Given the description of an element on the screen output the (x, y) to click on. 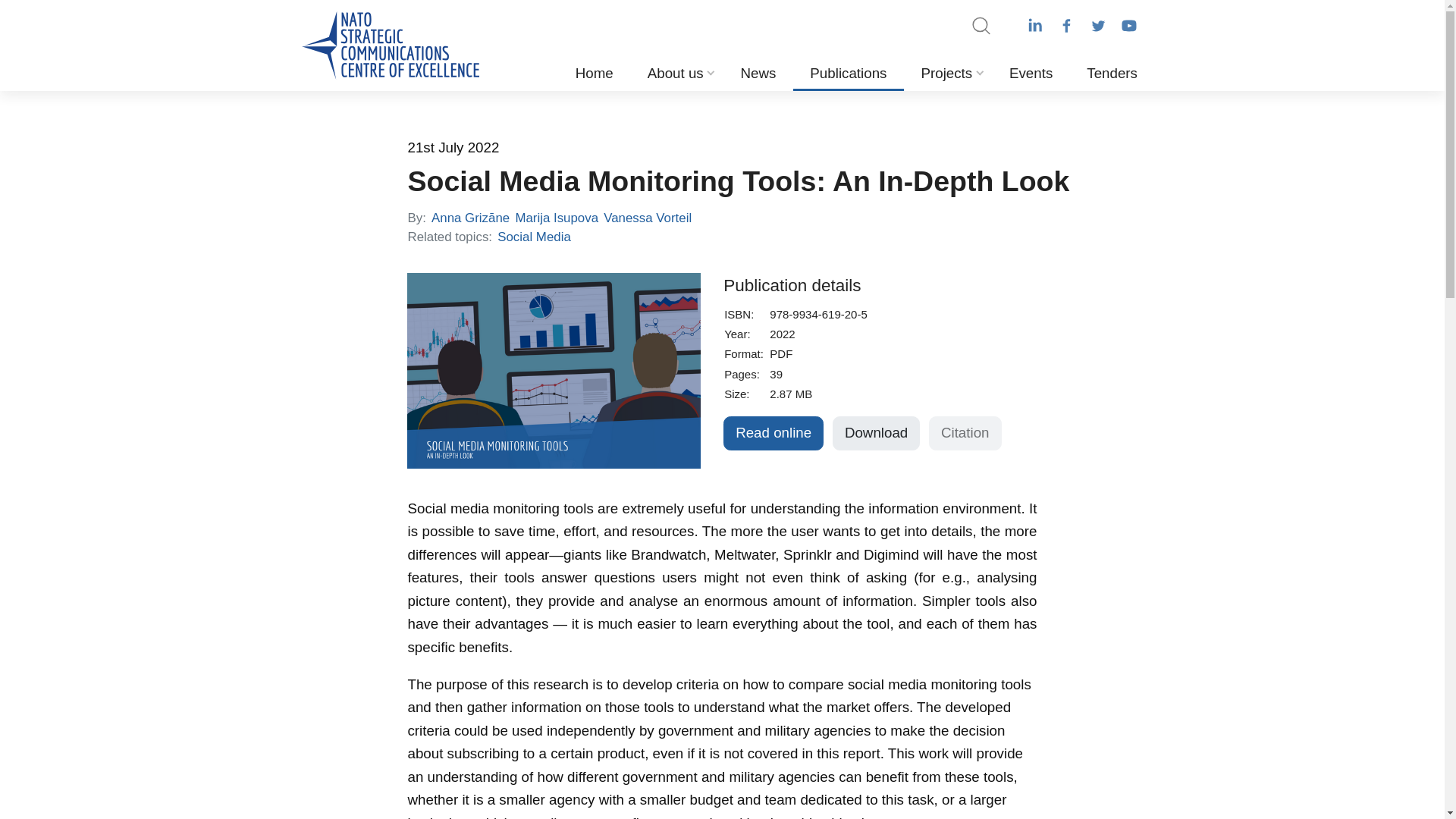
Download (876, 433)
Read online (773, 433)
Home (593, 67)
Tenders (1112, 67)
Marija Isupova (556, 217)
Citation (964, 433)
News (758, 67)
About us (676, 67)
Events (1029, 67)
Vanessa Vorteil (647, 217)
